Given the description of an element on the screen output the (x, y) to click on. 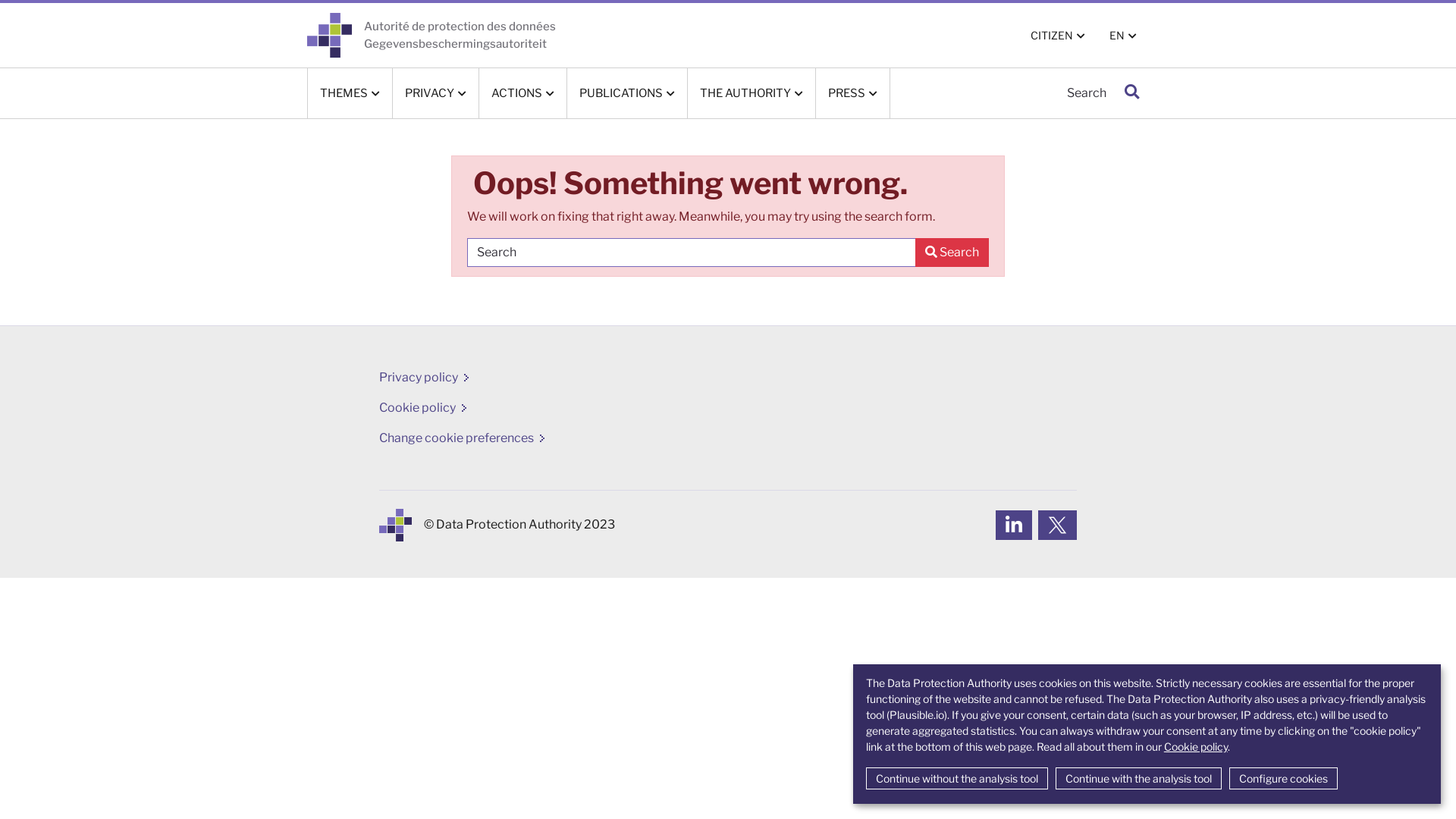
PRESS Element type: text (852, 93)
PUBLICATIONS Element type: text (627, 93)
PRIVACY Element type: text (435, 93)
Continue without the analysis tool Element type: text (957, 778)
Cookie policy Element type: text (417, 407)
Cookie policy Element type: text (1195, 746)
Continue with the analysis tool Element type: text (1138, 778)
Search Element type: text (1131, 92)
Configure cookies Element type: text (1283, 778)
THE AUTHORITY Element type: text (751, 93)
Privacy policy Element type: text (418, 377)
ACTIONS Element type: text (522, 93)
CITIZEN Element type: text (1057, 35)
EN Element type: text (1122, 35)
Search Element type: text (951, 252)
THEMES Element type: text (349, 93)
Change cookie preferences Element type: text (456, 438)
